Given the description of an element on the screen output the (x, y) to click on. 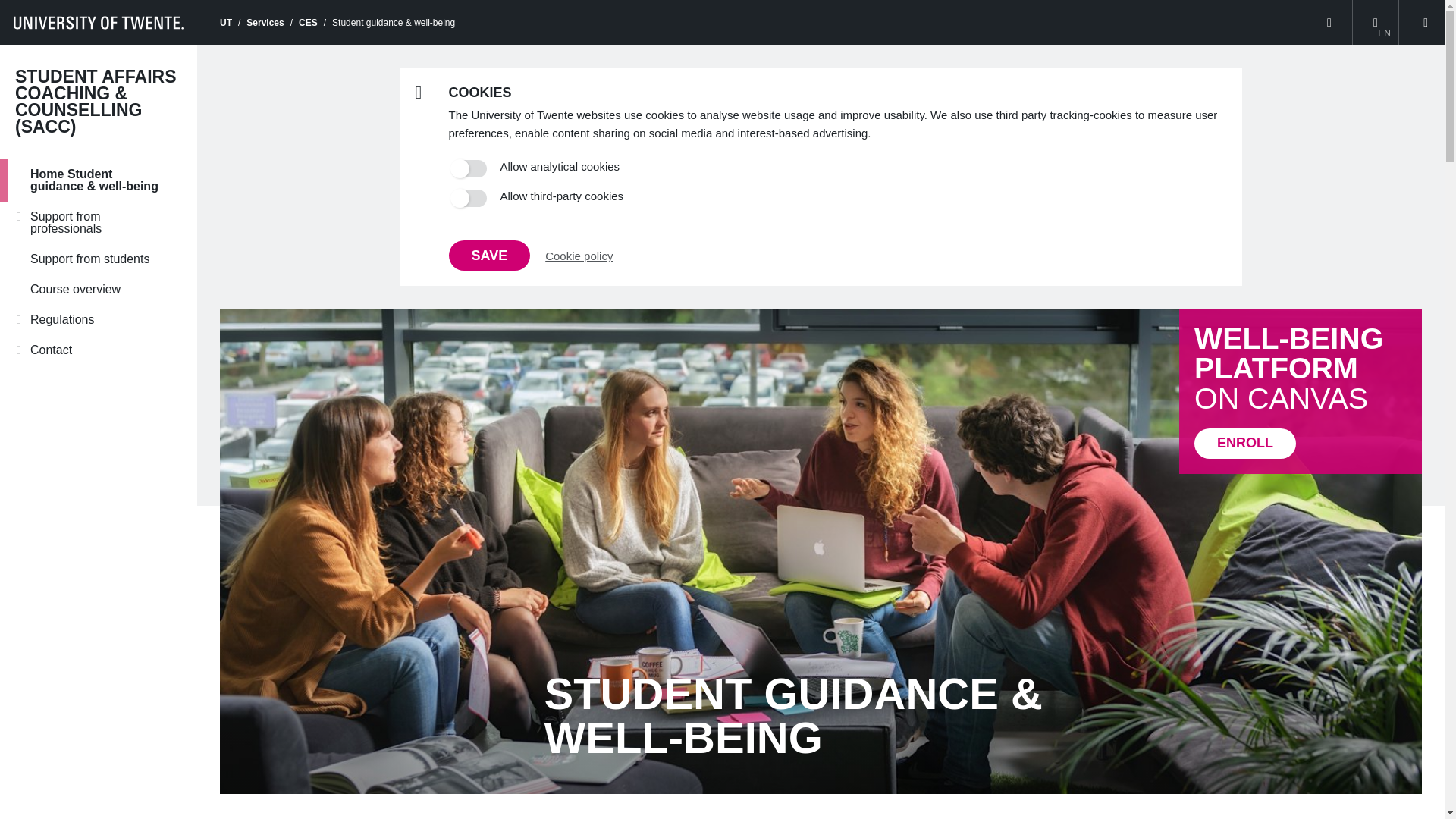
SAVE (489, 255)
Course overview (98, 289)
Support from students (98, 259)
ENROLL (1244, 443)
CES (307, 22)
Regulations (98, 319)
on (468, 168)
Contact (98, 349)
on (468, 198)
Support from professionals (98, 222)
